Given the description of an element on the screen output the (x, y) to click on. 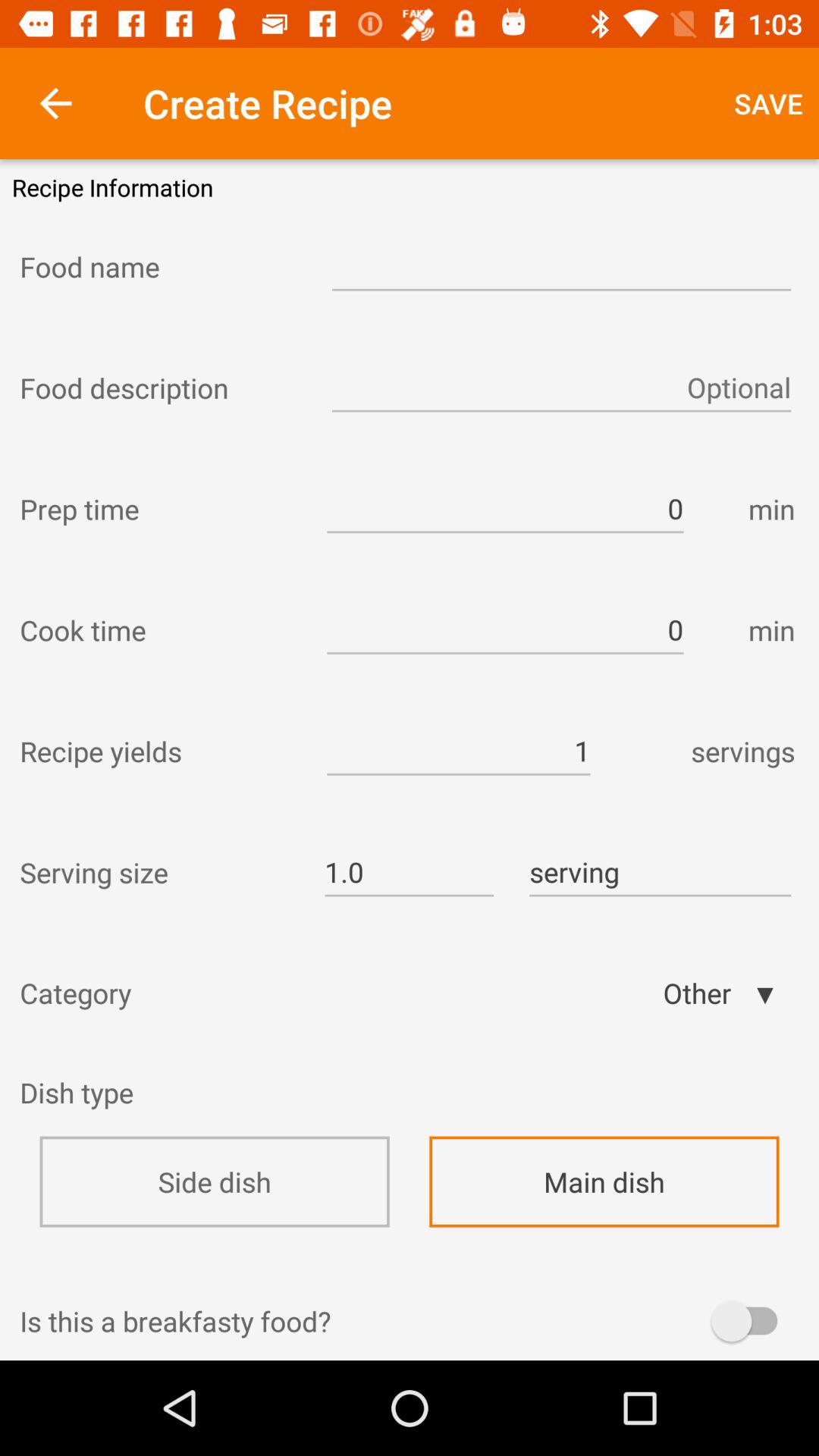
select the item to the left of 0 (159, 508)
